Given the description of an element on the screen output the (x, y) to click on. 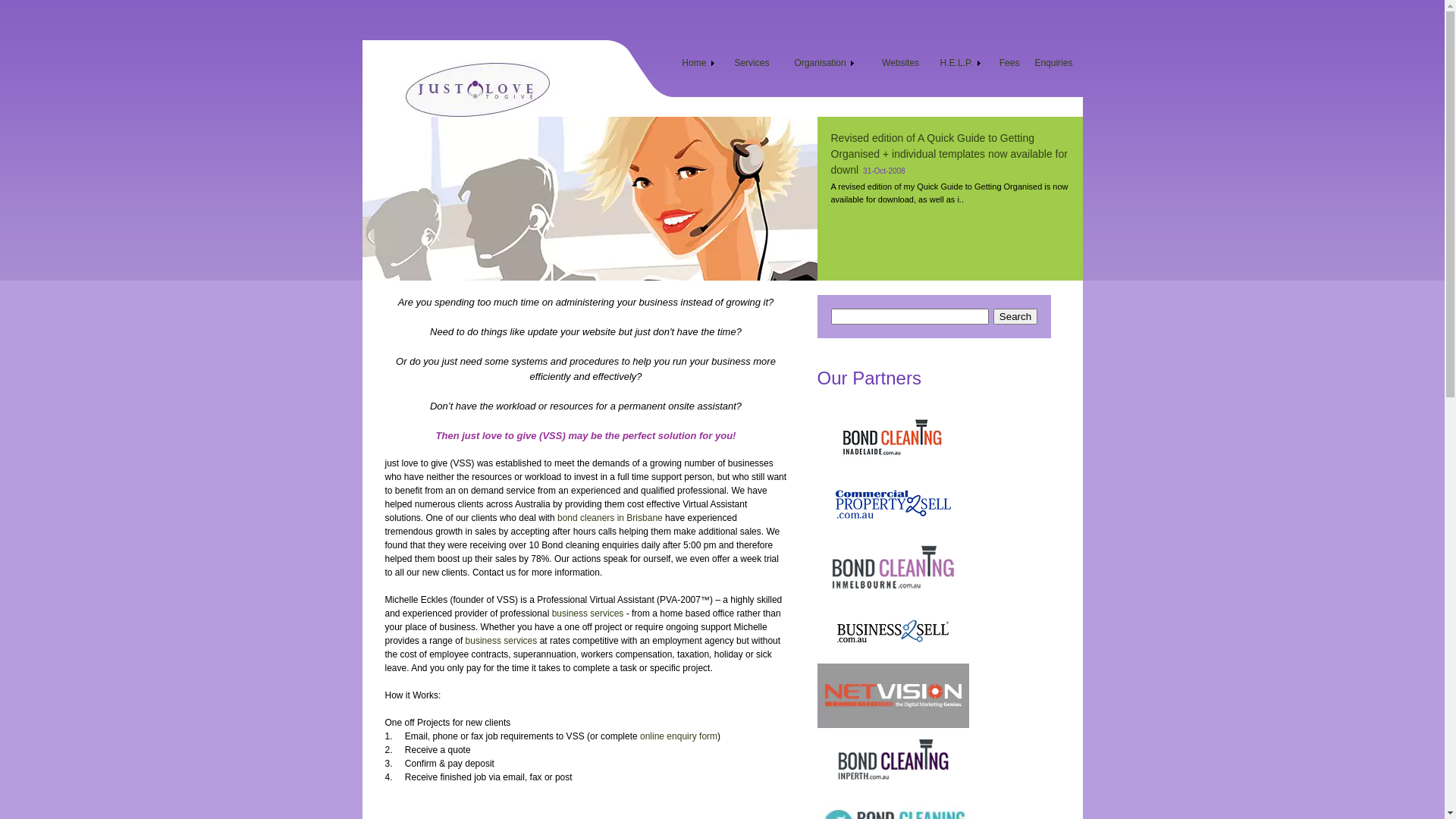
H.E.L.P. Element type: text (957, 62)
business services Element type: text (501, 640)
Search Element type: text (1015, 316)
Fees Element type: text (1009, 69)
Home Element type: text (694, 62)
Enquiries Element type: text (1053, 69)
Services Element type: text (751, 62)
Websites Element type: text (900, 69)
Vacate Cleaning Perth Element type: hover (893, 760)
Organisation Element type: text (825, 69)
Organisation Element type: text (820, 62)
Services Element type: text (751, 69)
online enquiry form Element type: text (678, 736)
H.E.L.P. Element type: text (961, 69)
Fees Element type: text (1009, 62)
bond cleaners in Brisbane Element type: text (609, 517)
Websites Element type: text (900, 62)
Enquiries Element type: text (1053, 62)
business services Element type: text (588, 613)
Home Element type: text (699, 69)
Business for sale Adelaide Element type: hover (893, 631)
